Given the description of an element on the screen output the (x, y) to click on. 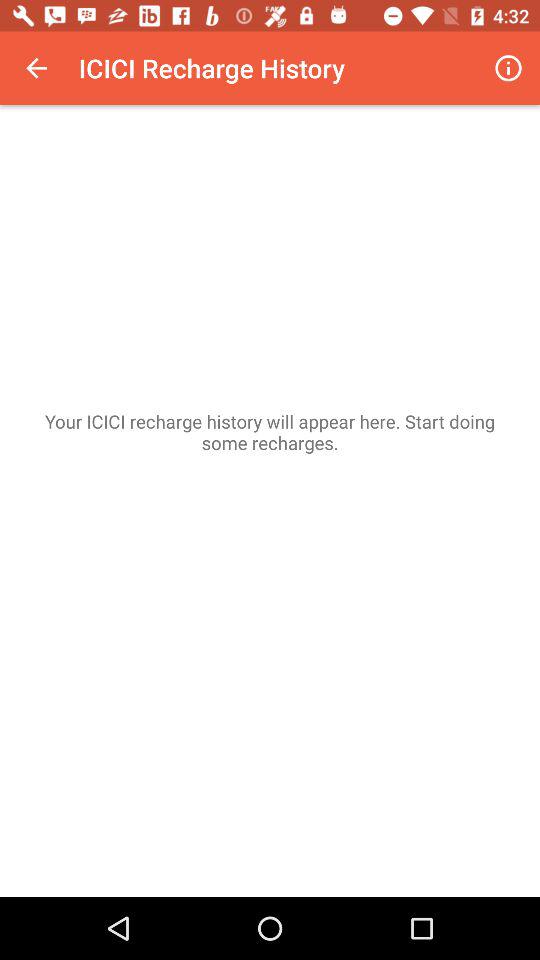
turn on the app to the left of the icici recharge history icon (36, 68)
